Given the description of an element on the screen output the (x, y) to click on. 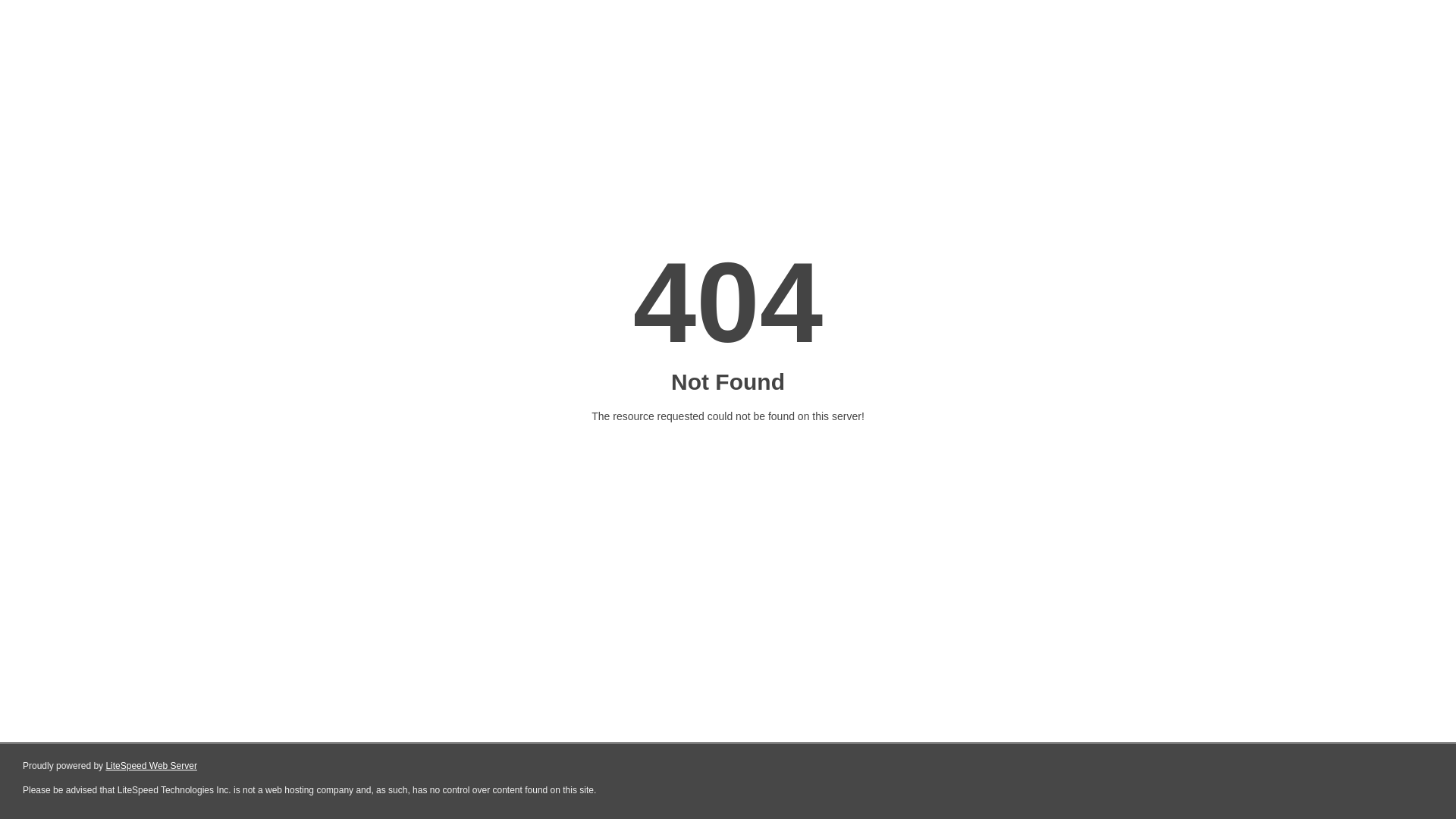
LiteSpeed Web Server Element type: text (151, 765)
